Given the description of an element on the screen output the (x, y) to click on. 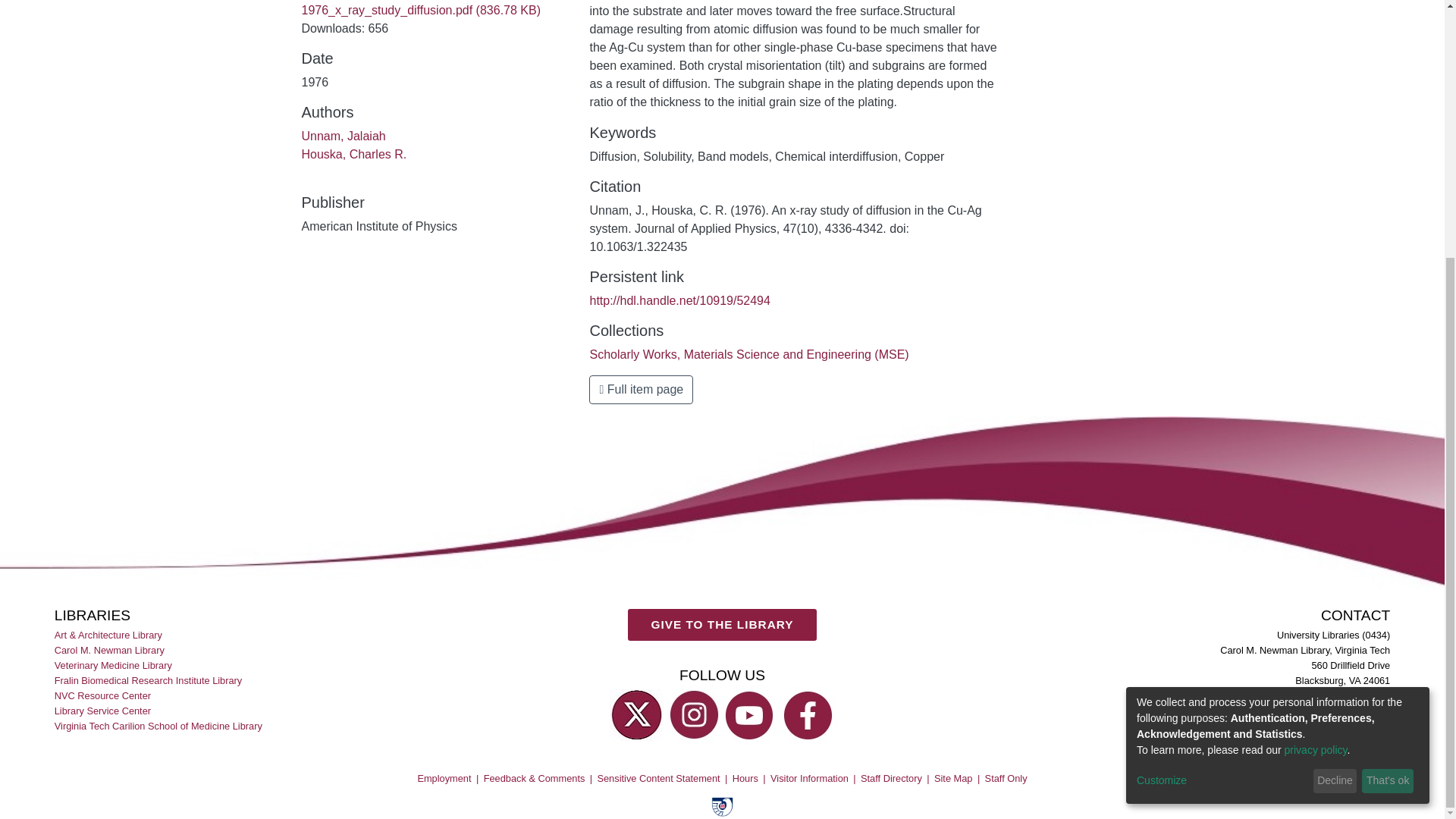
Unnam, Jalaiah (343, 135)
NVC Resource Center (103, 694)
Houska, Charles R. (354, 154)
Library Service Center (103, 711)
Carol M. Newman Library (111, 649)
Veterinary Medicine Library (114, 664)
Full item page (641, 389)
Fralin Biomedical Research Institute Library (149, 679)
